Given the description of an element on the screen output the (x, y) to click on. 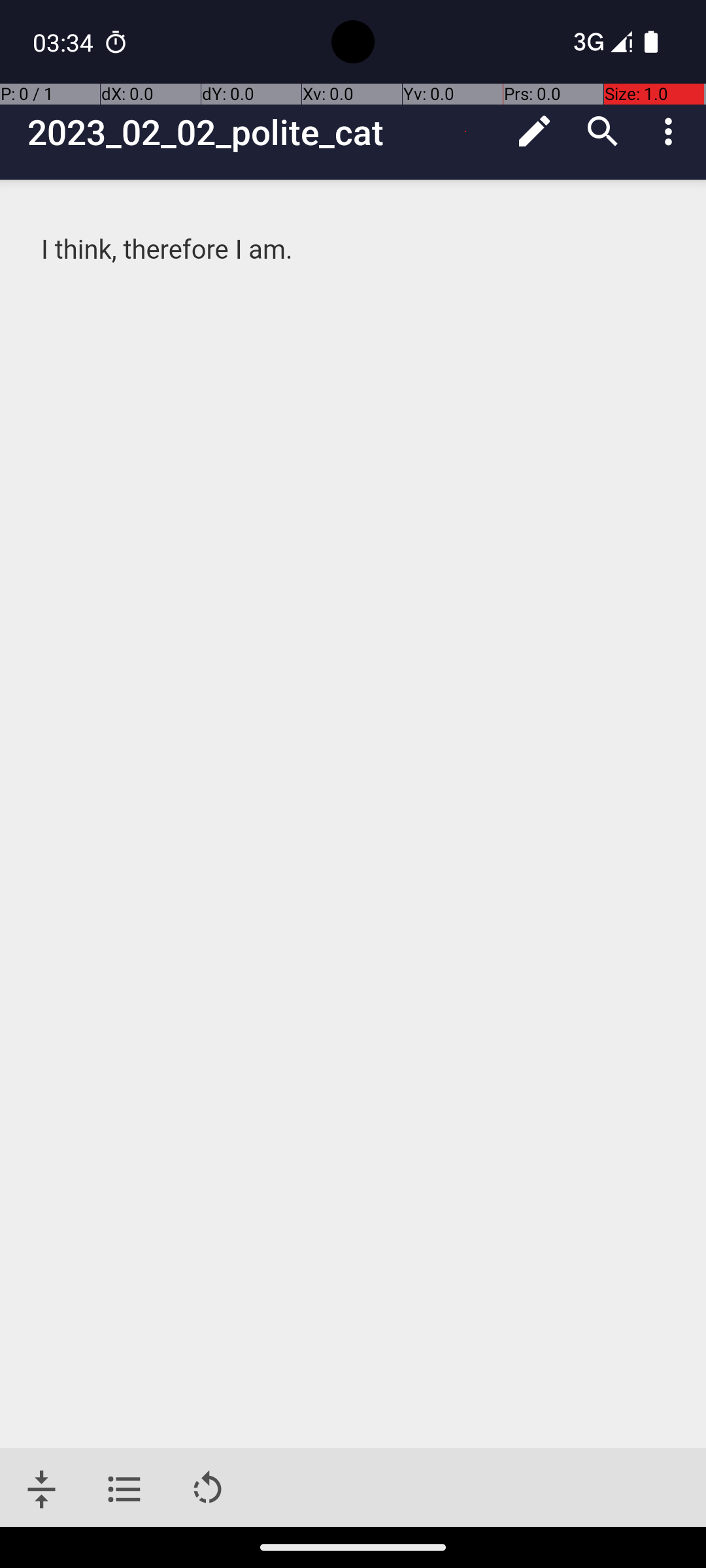
2023_02_02_polite_cat Element type: android.widget.TextView (263, 131)
I think, therefore I am. Element type: android.widget.TextView (354, 249)
03:34 Element type: android.widget.TextView (64, 41)
